Given the description of an element on the screen output the (x, y) to click on. 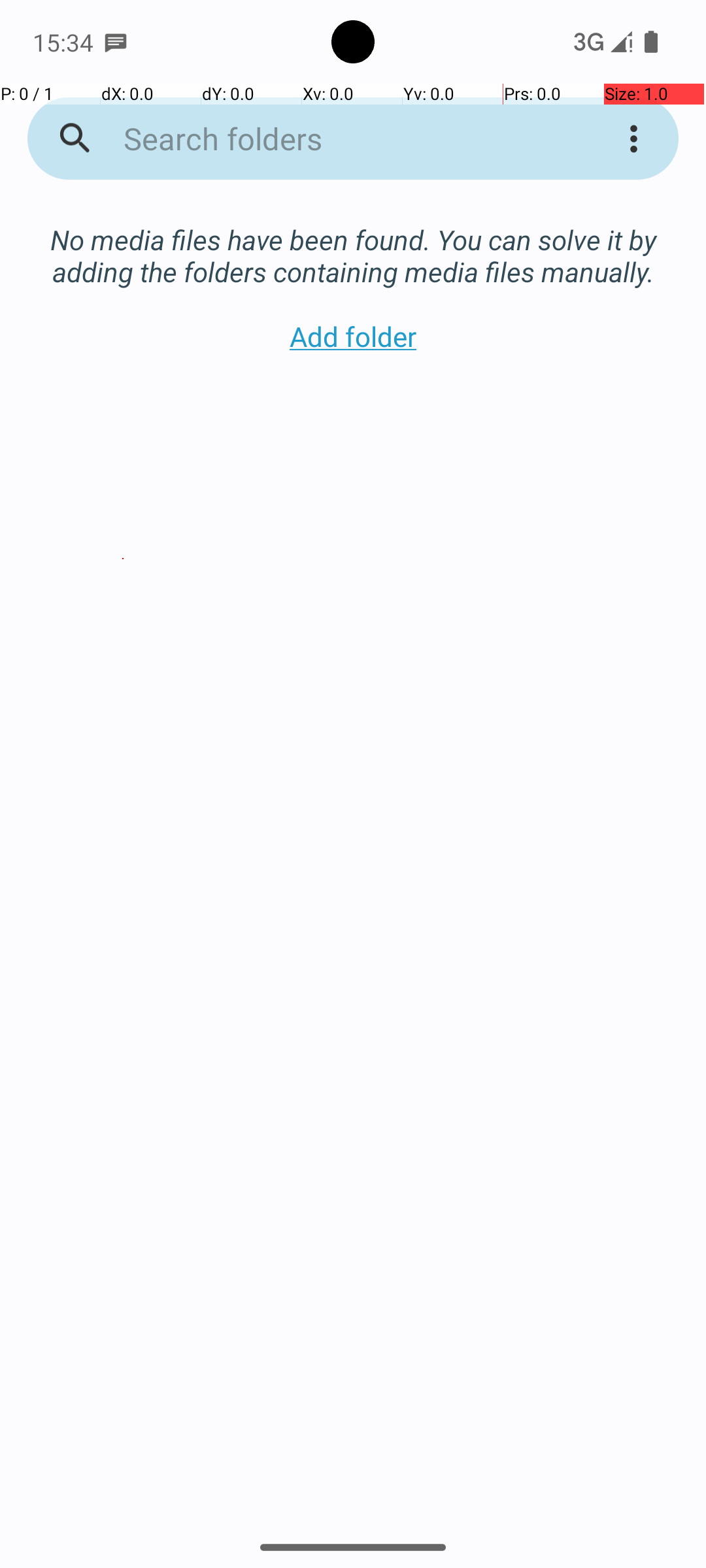
No media files have been found. You can solve it by adding the folders containing media files manually. Element type: android.widget.TextView (353, 241)
Add folder Element type: android.widget.TextView (352, 336)
Search folders Element type: android.widget.EditText (335, 138)
